Given the description of an element on the screen output the (x, y) to click on. 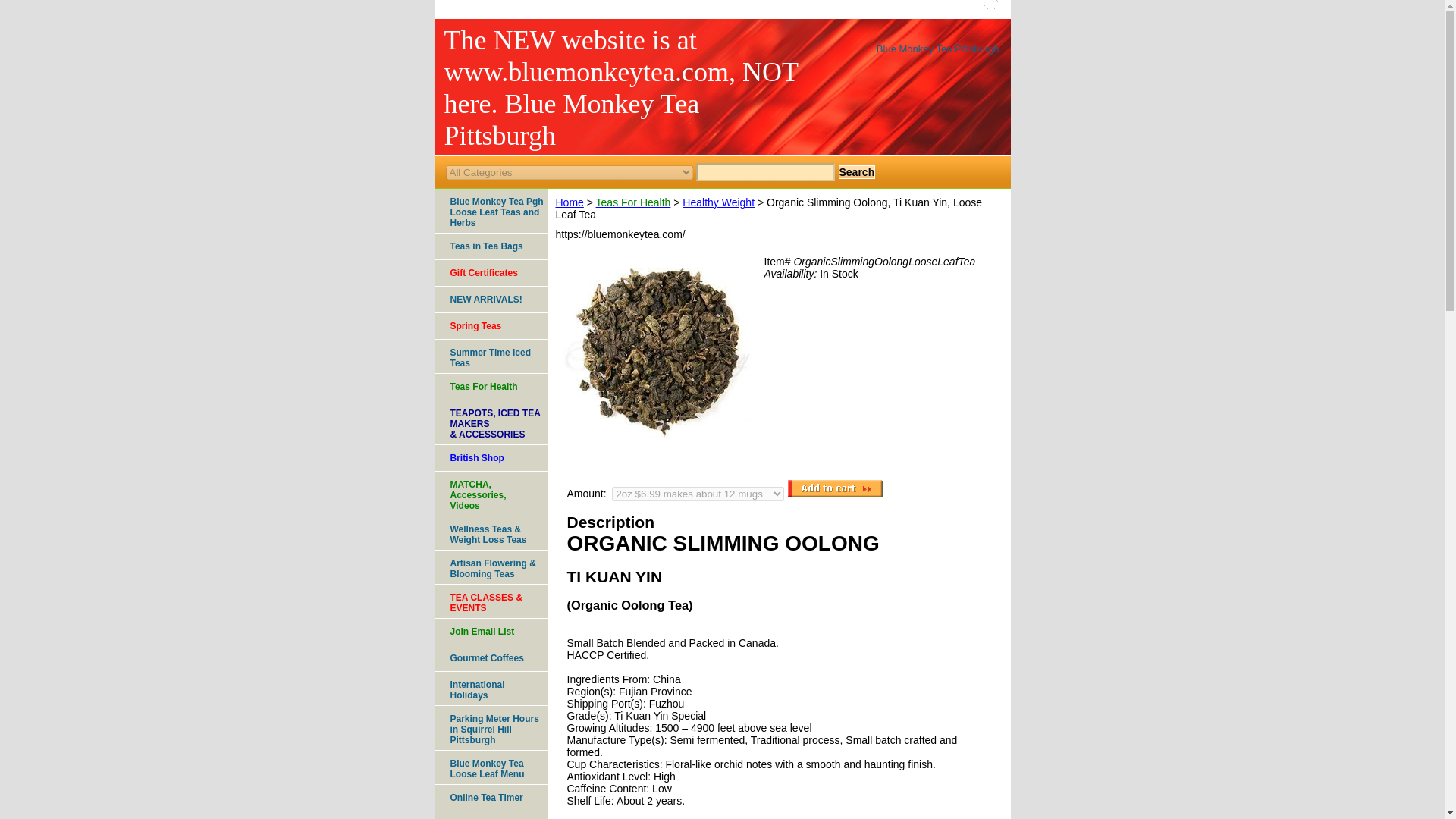
site map (895, 7)
privacy policy (745, 7)
home (608, 7)
Organic Slimming Oolong, Ti Kuan Yin, Loose Leaf Tea (657, 350)
International Holidays (490, 688)
Teas For Health (633, 202)
Gourmet Coffees (490, 658)
Summer Time Iced Teas (490, 493)
Parking Meter Hours in Squirrel Hill Pittsburgh (490, 356)
